Given the description of an element on the screen output the (x, y) to click on. 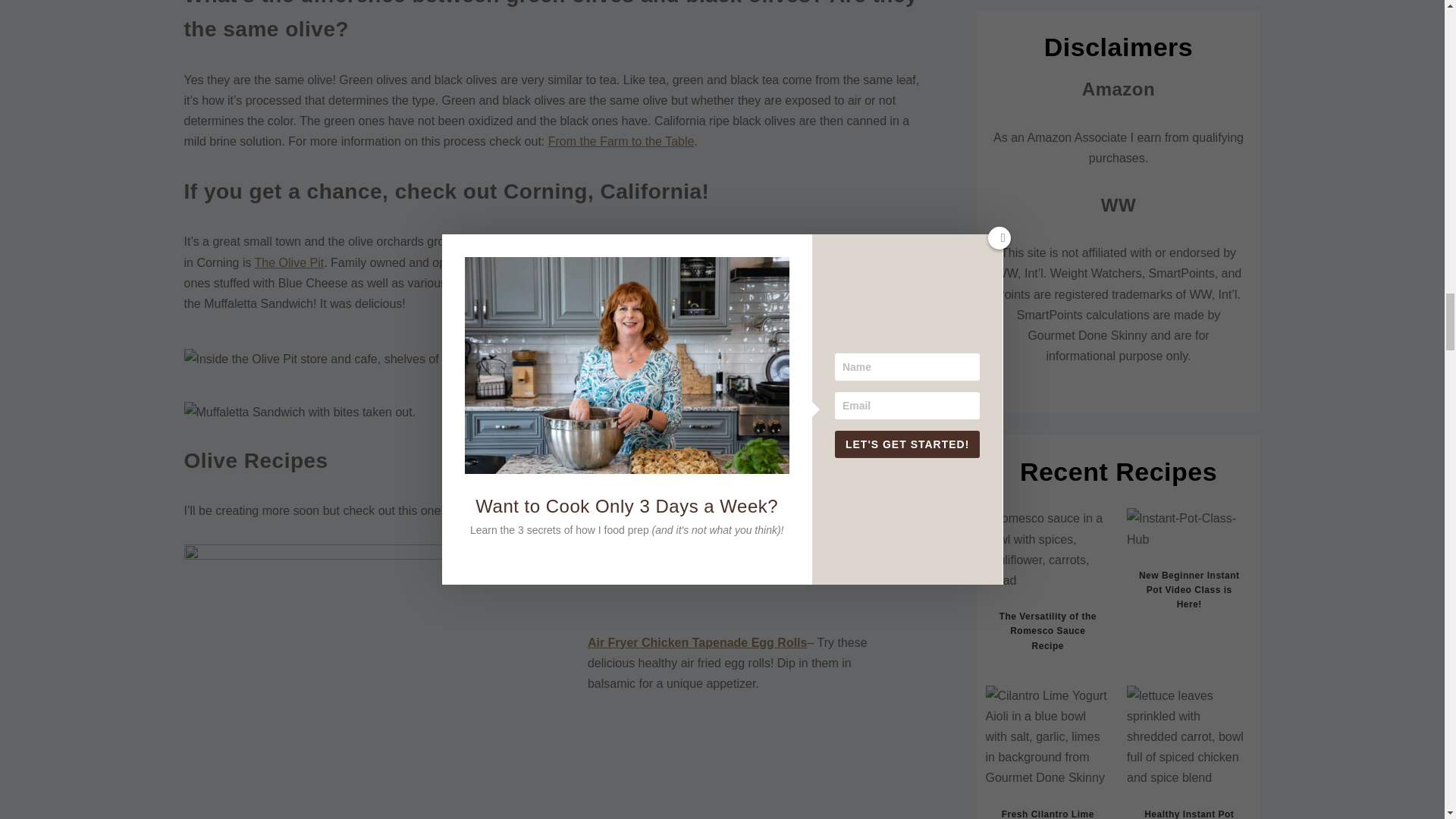
olives (340, 601)
The Versatility of the Romesco Sauce Recipe (1047, 630)
olive harvest (264, 601)
